Given the description of an element on the screen output the (x, y) to click on. 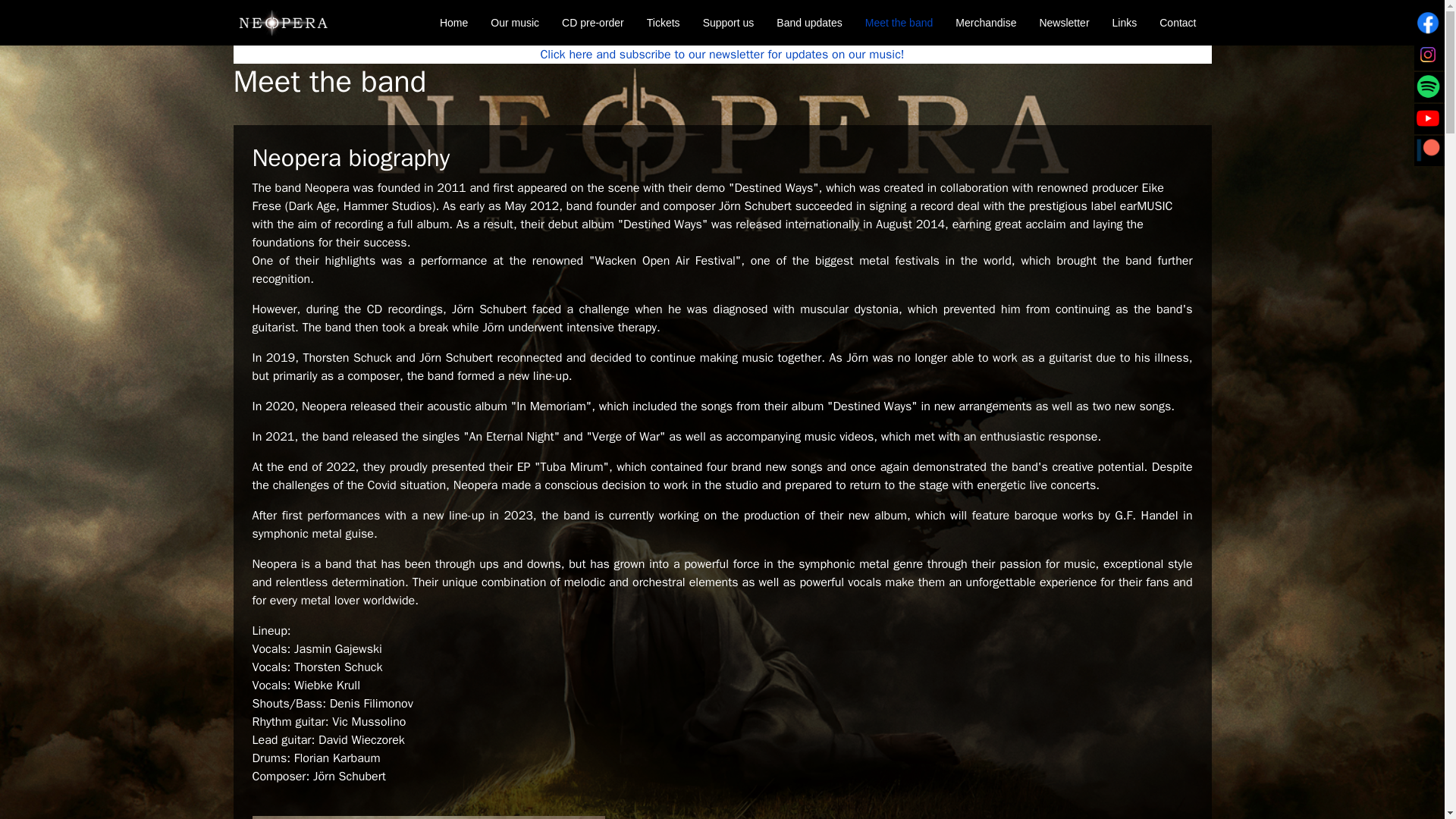
Home (453, 22)
Band updates (809, 22)
Newsletter (1063, 22)
CD pre-order (592, 22)
Meet the band (898, 22)
Merchandise (985, 22)
Tickets (662, 22)
Links (1124, 22)
Support us (728, 22)
